Given the description of an element on the screen output the (x, y) to click on. 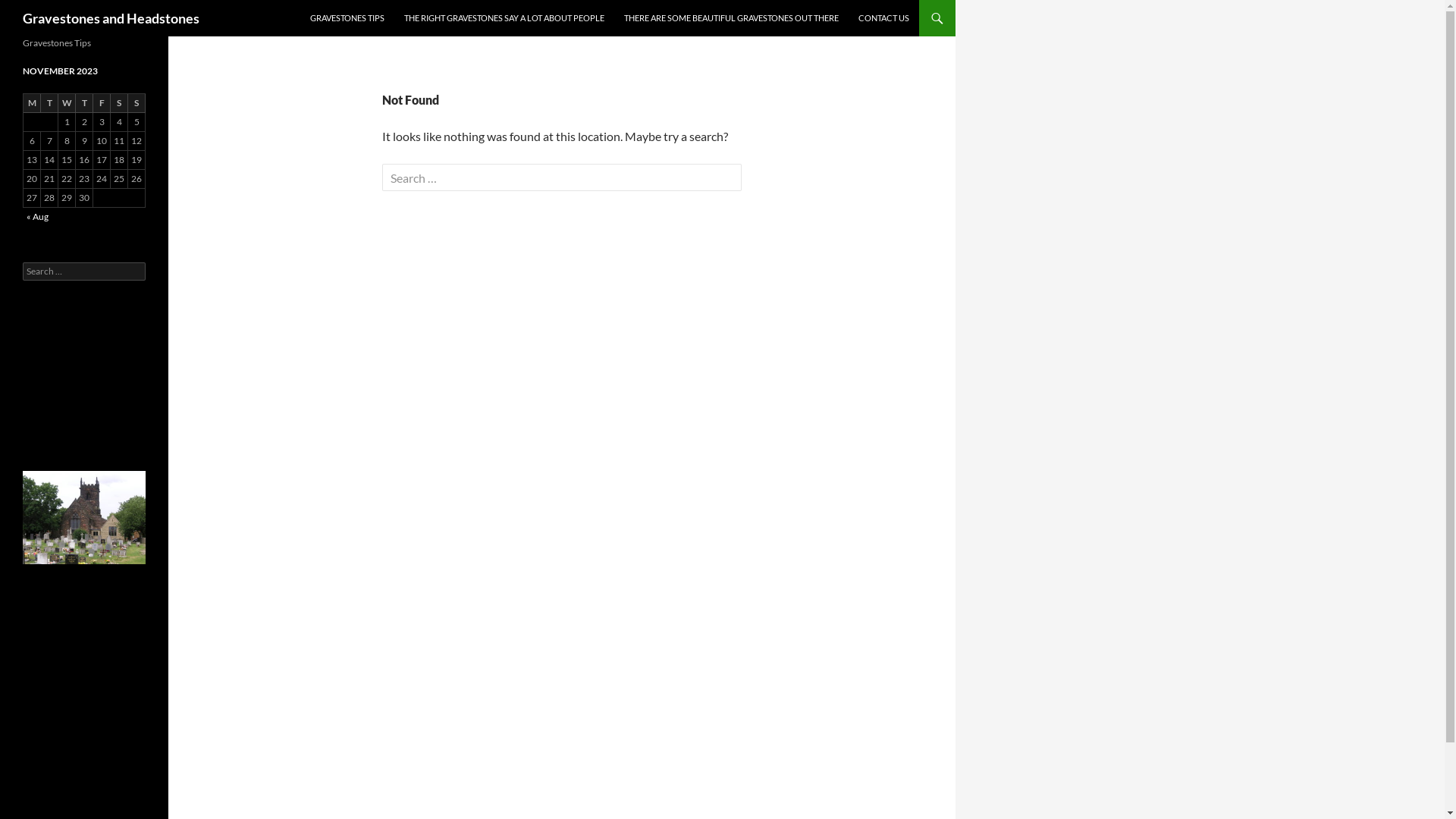
GRAVESTONES TIPS Element type: text (347, 18)
Search Element type: text (29, 9)
CONTACT US Element type: text (883, 18)
Search Element type: text (3, 0)
THERE ARE SOME BEAUTIFUL GRAVESTONES OUT THERE Element type: text (731, 18)
Gravestones and Headstones Element type: text (110, 18)
SKIP TO CONTENT Element type: text (310, 0)
THE RIGHT GRAVESTONES SAY A LOT ABOUT PEOPLE Element type: text (504, 18)
Search Element type: text (40, 13)
